Given the description of an element on the screen output the (x, y) to click on. 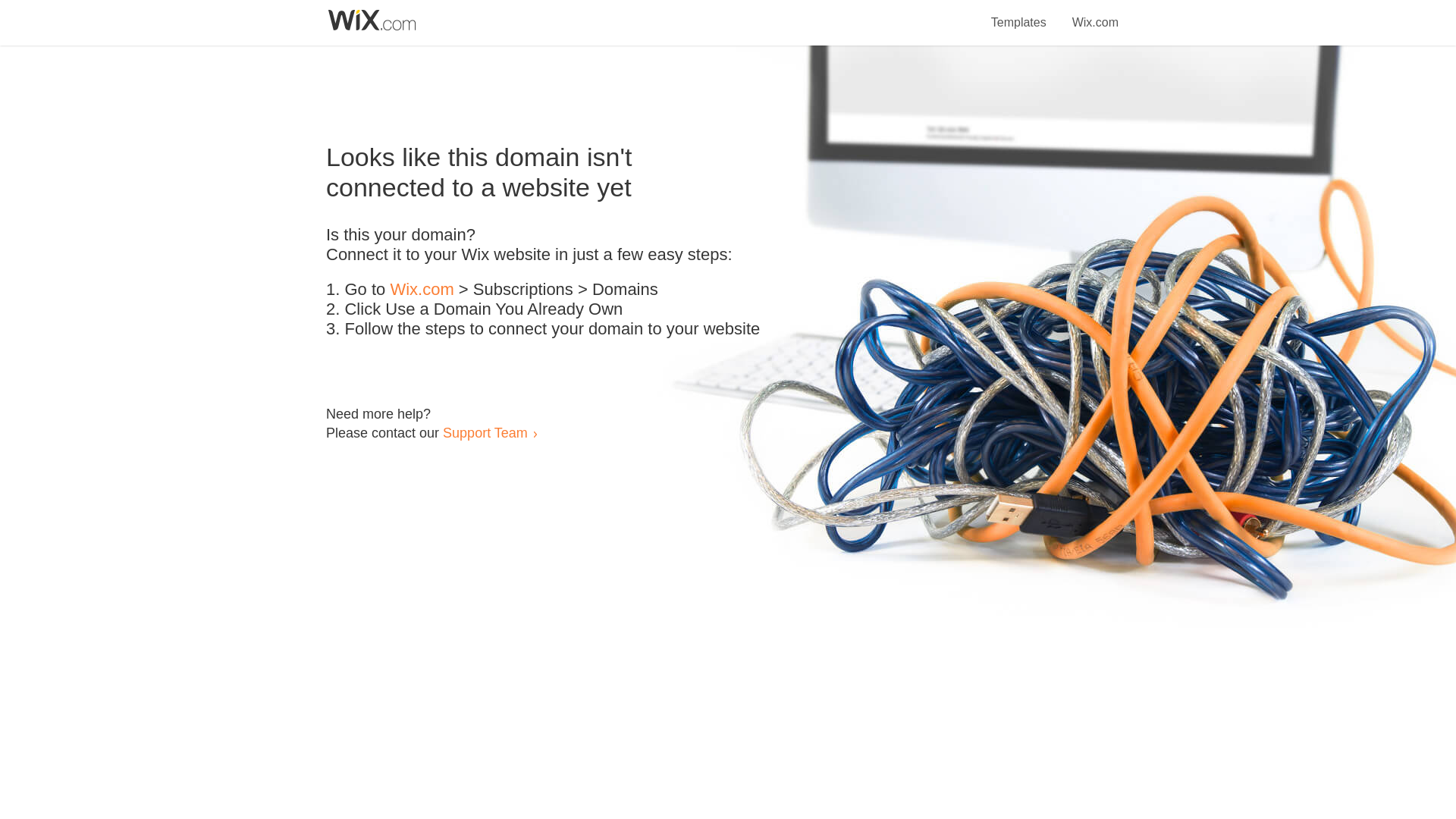
Wix.com (1095, 14)
Templates (1018, 14)
Wix.com (421, 289)
Support Team (484, 432)
